Given the description of an element on the screen output the (x, y) to click on. 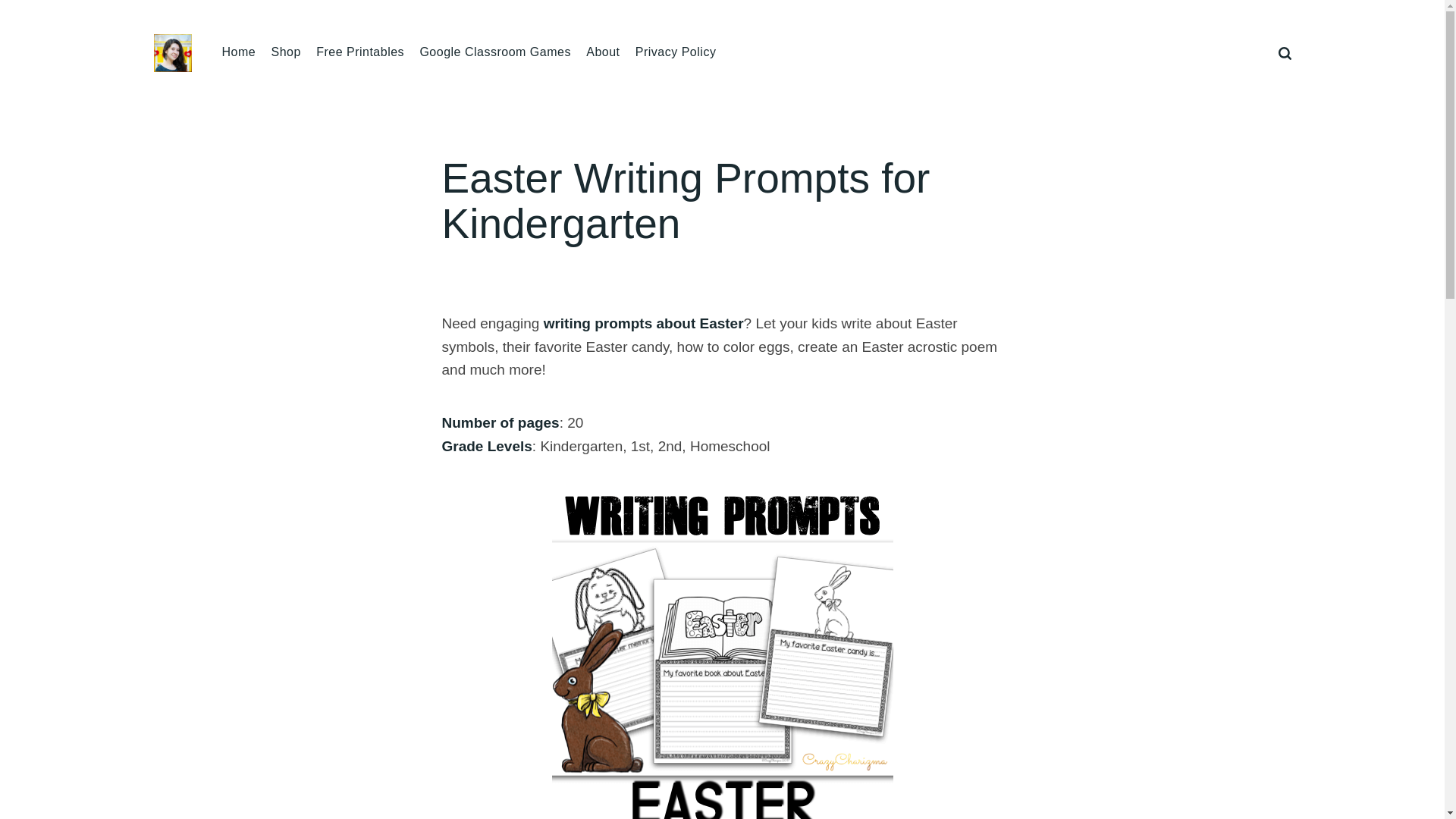
Home (238, 52)
About (603, 52)
Google Classroom Games (494, 52)
Privacy Policy (675, 52)
Free Printables (359, 52)
Shop (284, 52)
